Given the description of an element on the screen output the (x, y) to click on. 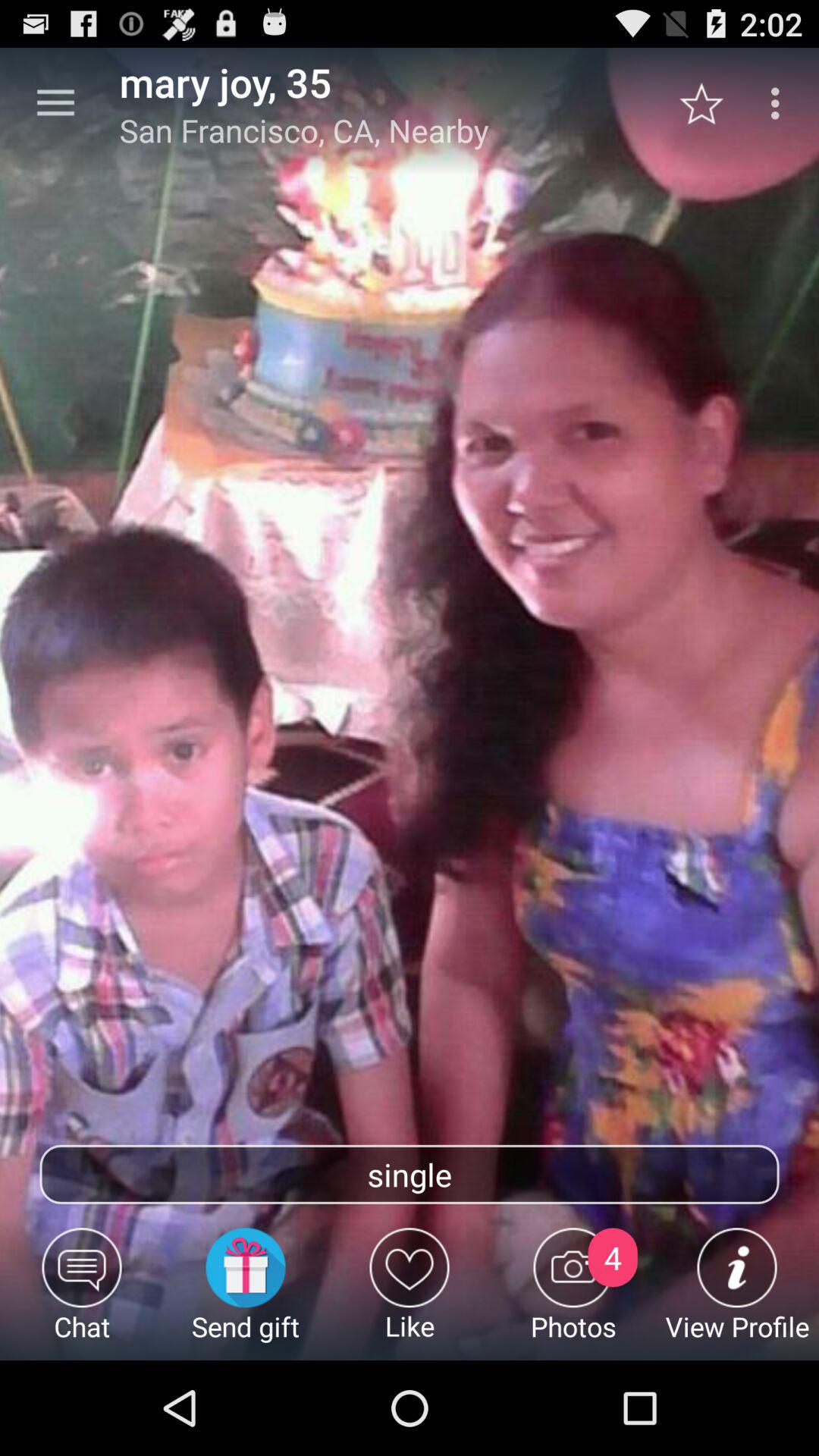
launch icon next to the mary joy, 35 item (55, 103)
